Given the description of an element on the screen output the (x, y) to click on. 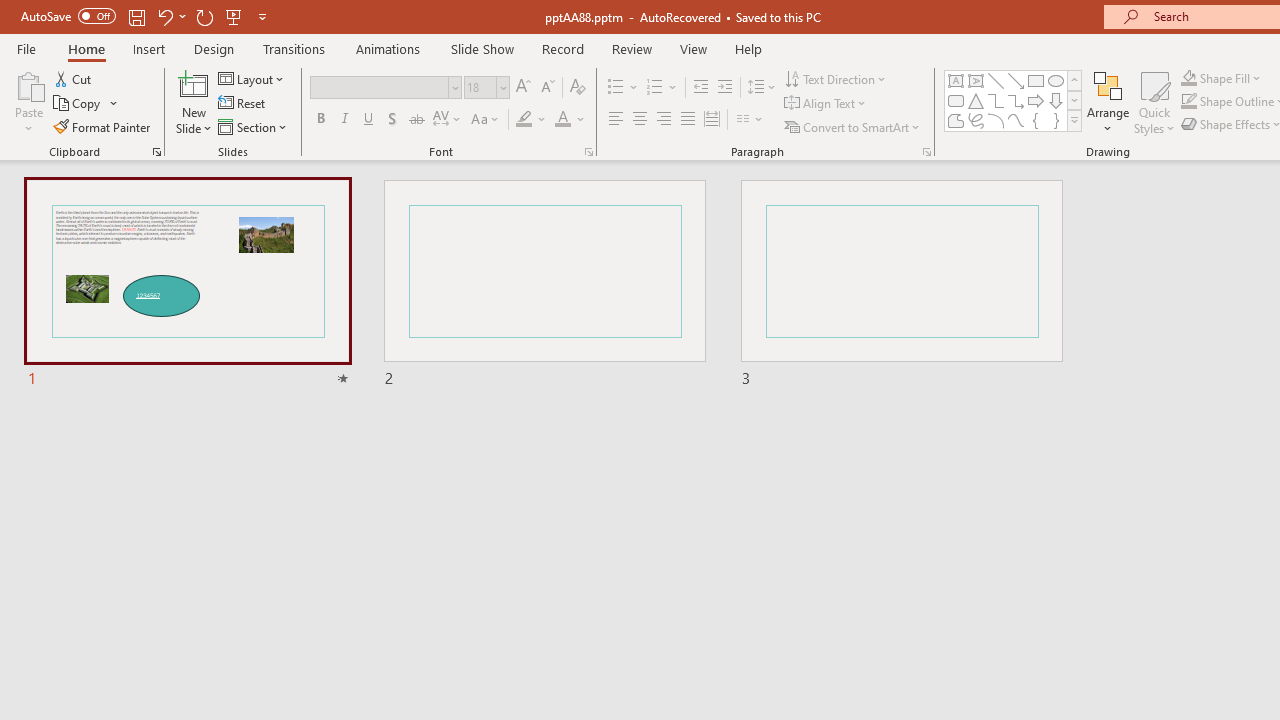
Shape Outline Teal, Accent 1 (1188, 101)
